Given the description of an element on the screen output the (x, y) to click on. 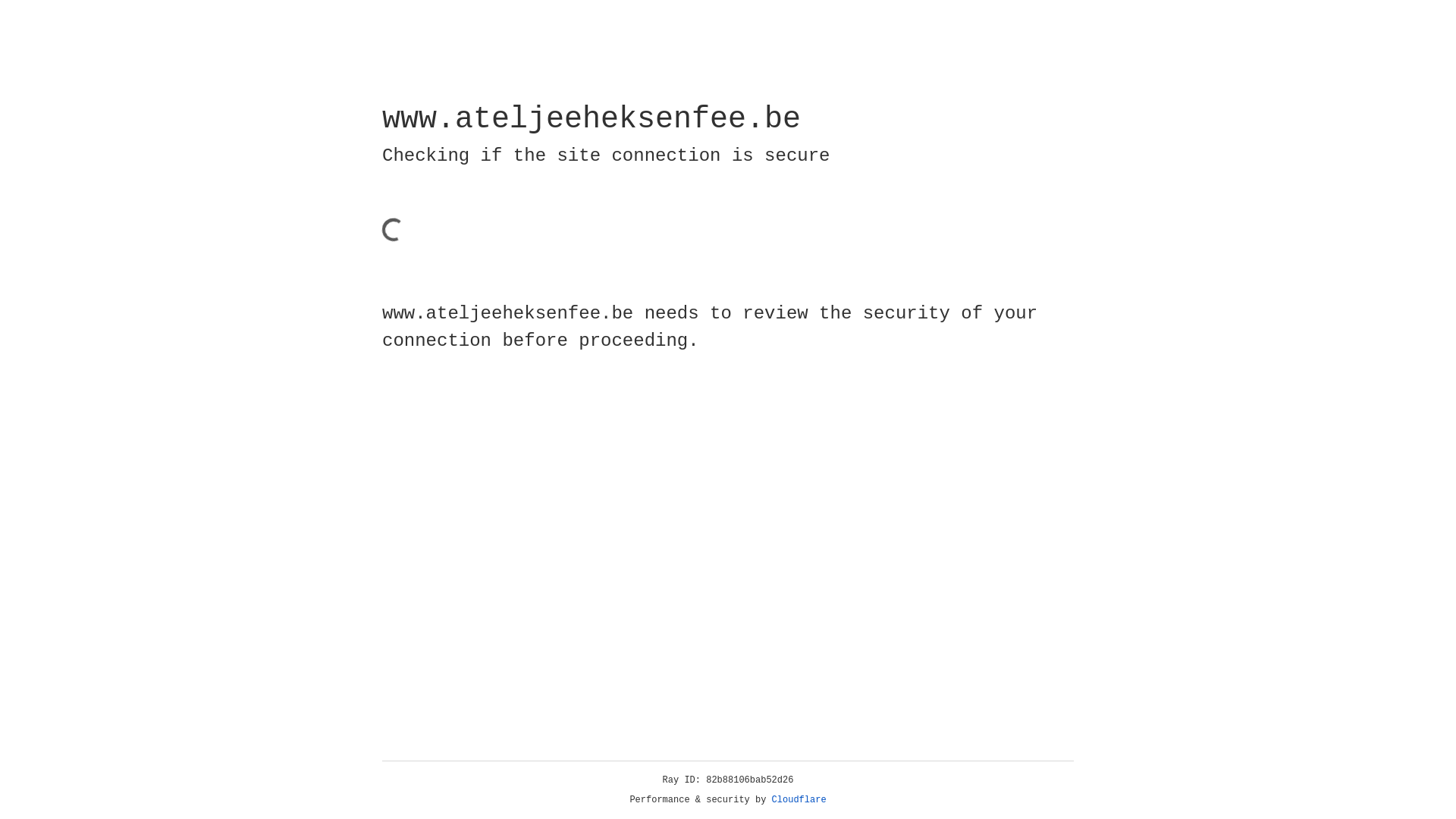
Cloudflare Element type: text (798, 799)
